Given the description of an element on the screen output the (x, y) to click on. 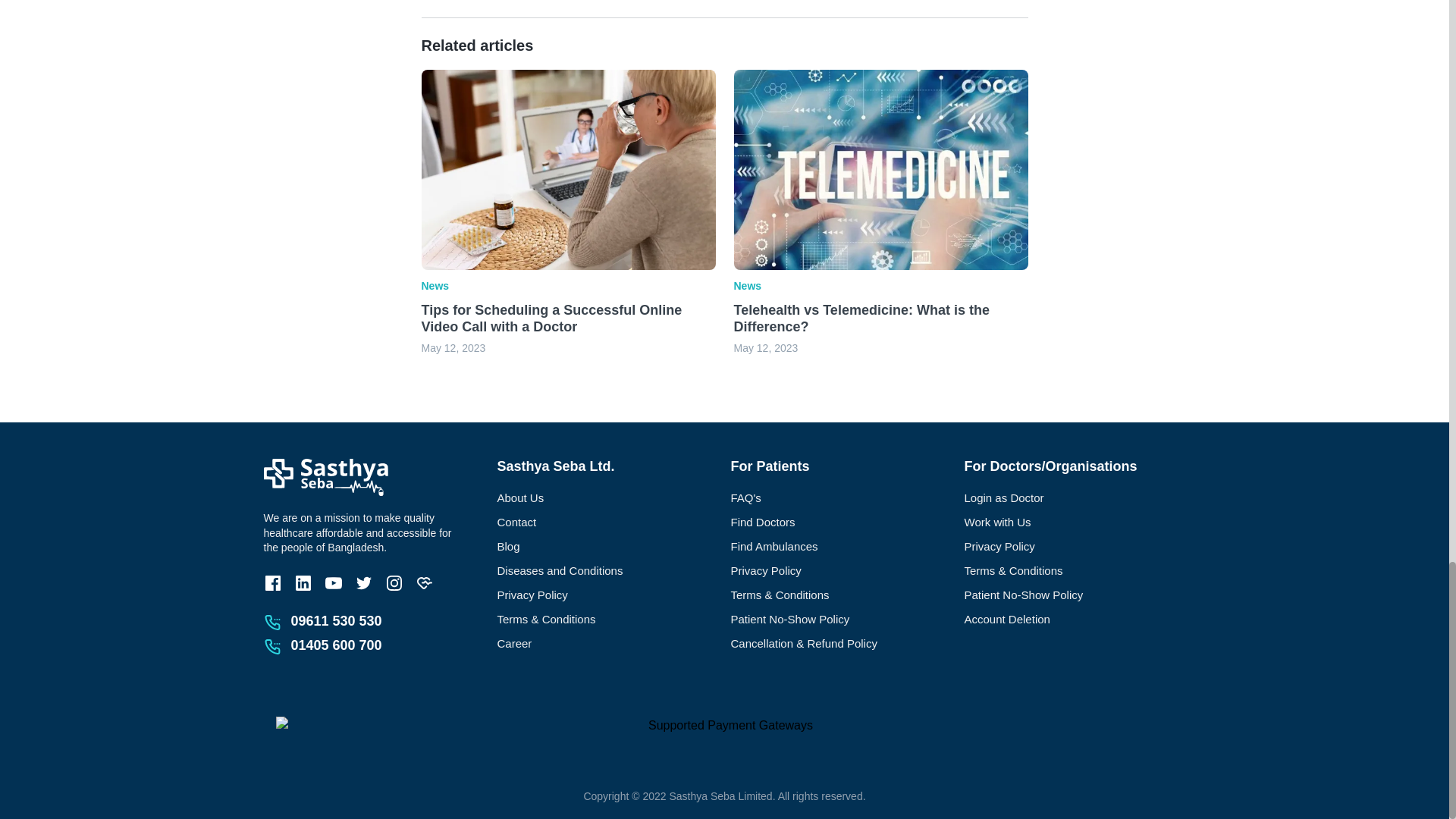
Twitter Page (363, 582)
Facebook Page (272, 582)
Home (325, 476)
About Us (608, 498)
Linkedin Page (303, 582)
01405 600 700 (336, 645)
09611 530 530 (336, 620)
Instagram Page (394, 582)
Status Page (423, 582)
Youtube Channel (333, 582)
